Given the description of an element on the screen output the (x, y) to click on. 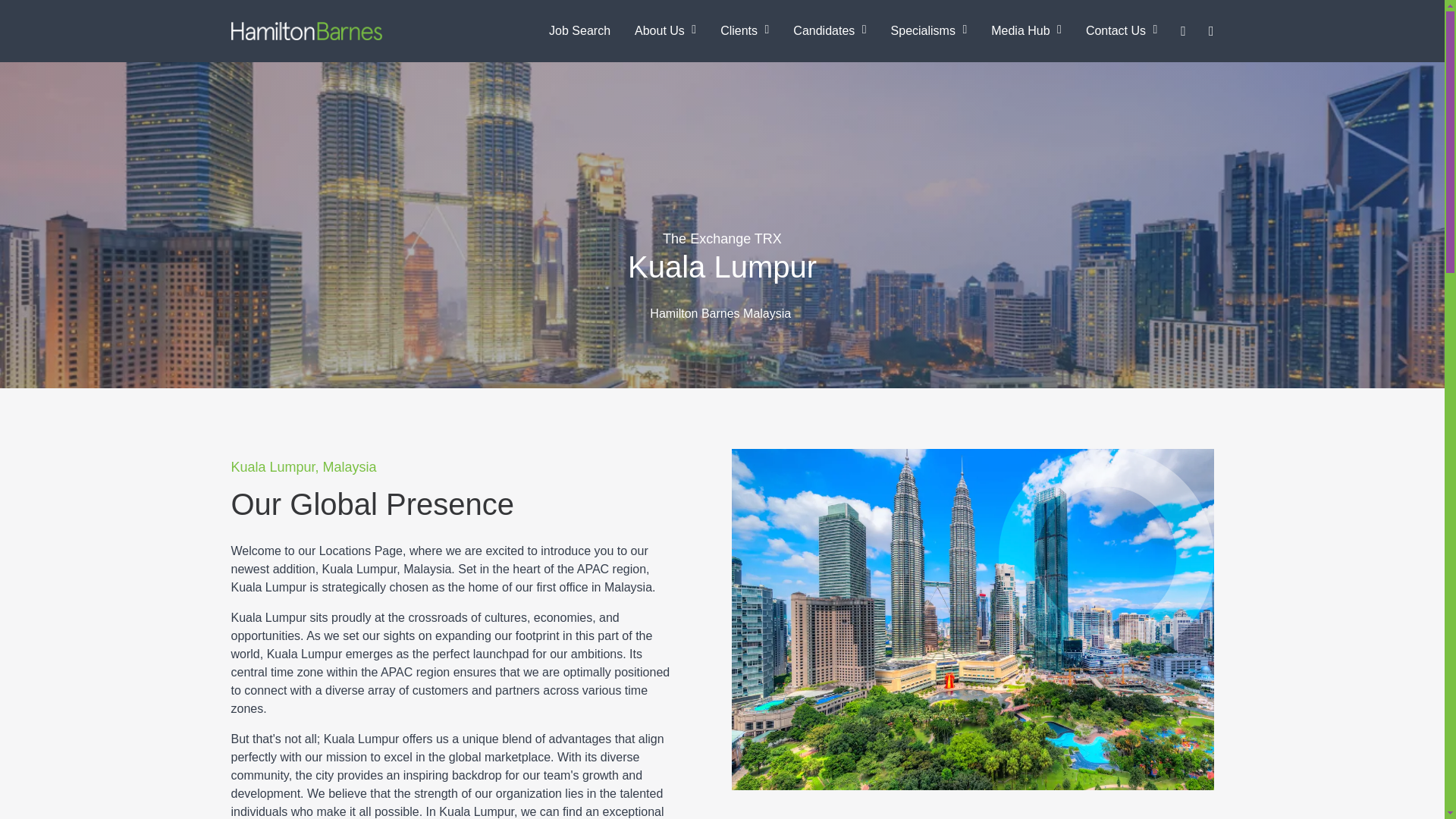
Contact Us (1121, 30)
About Us (665, 30)
Job Search (580, 30)
Specialisms (929, 30)
Candidates (828, 30)
Media Hub (1026, 30)
Clients (743, 30)
